Given the description of an element on the screen output the (x, y) to click on. 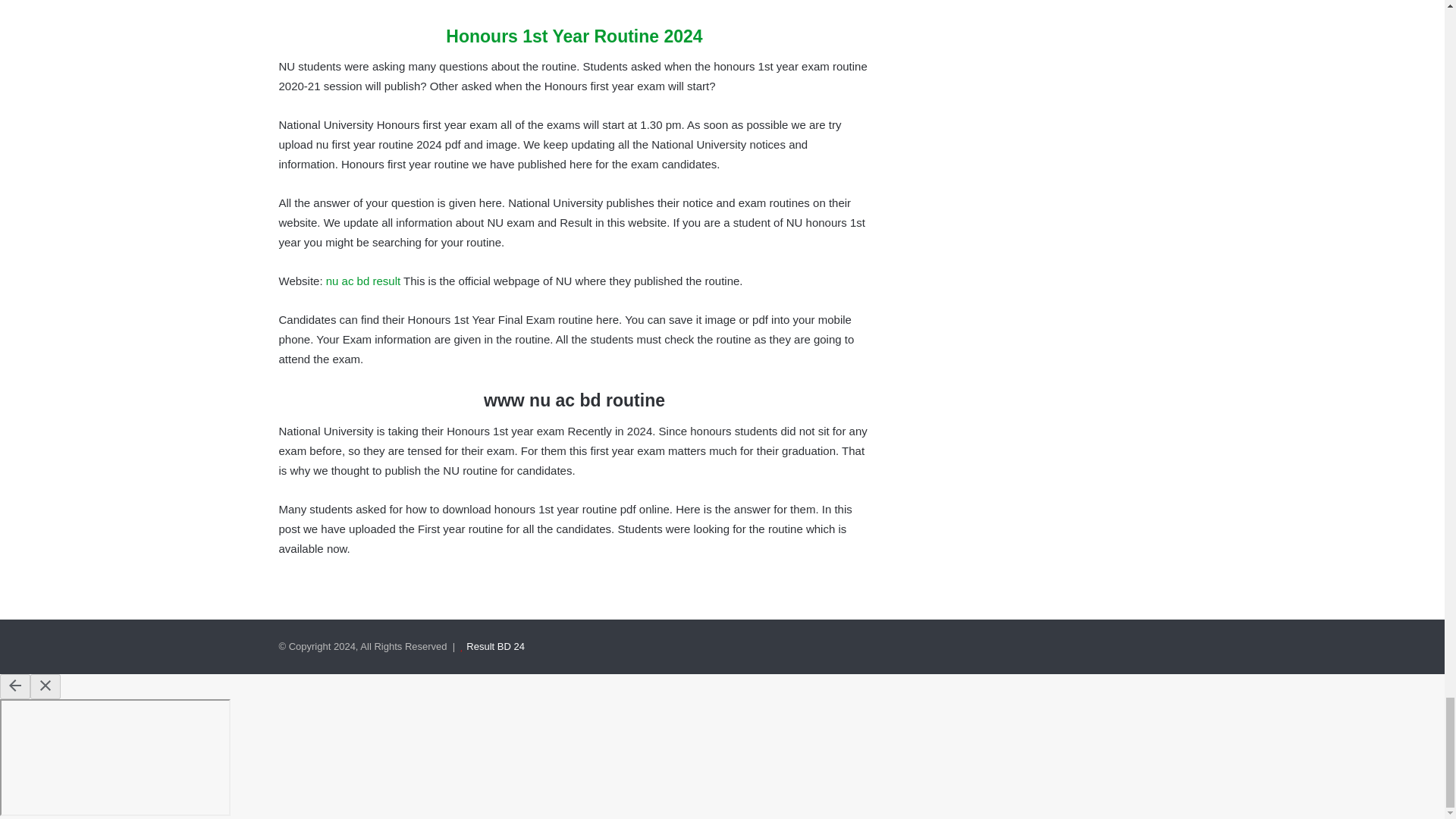
Honours 1st Year Routine 2024 (573, 35)
nu ac bd result (363, 280)
Result BD 24 (494, 645)
